Given the description of an element on the screen output the (x, y) to click on. 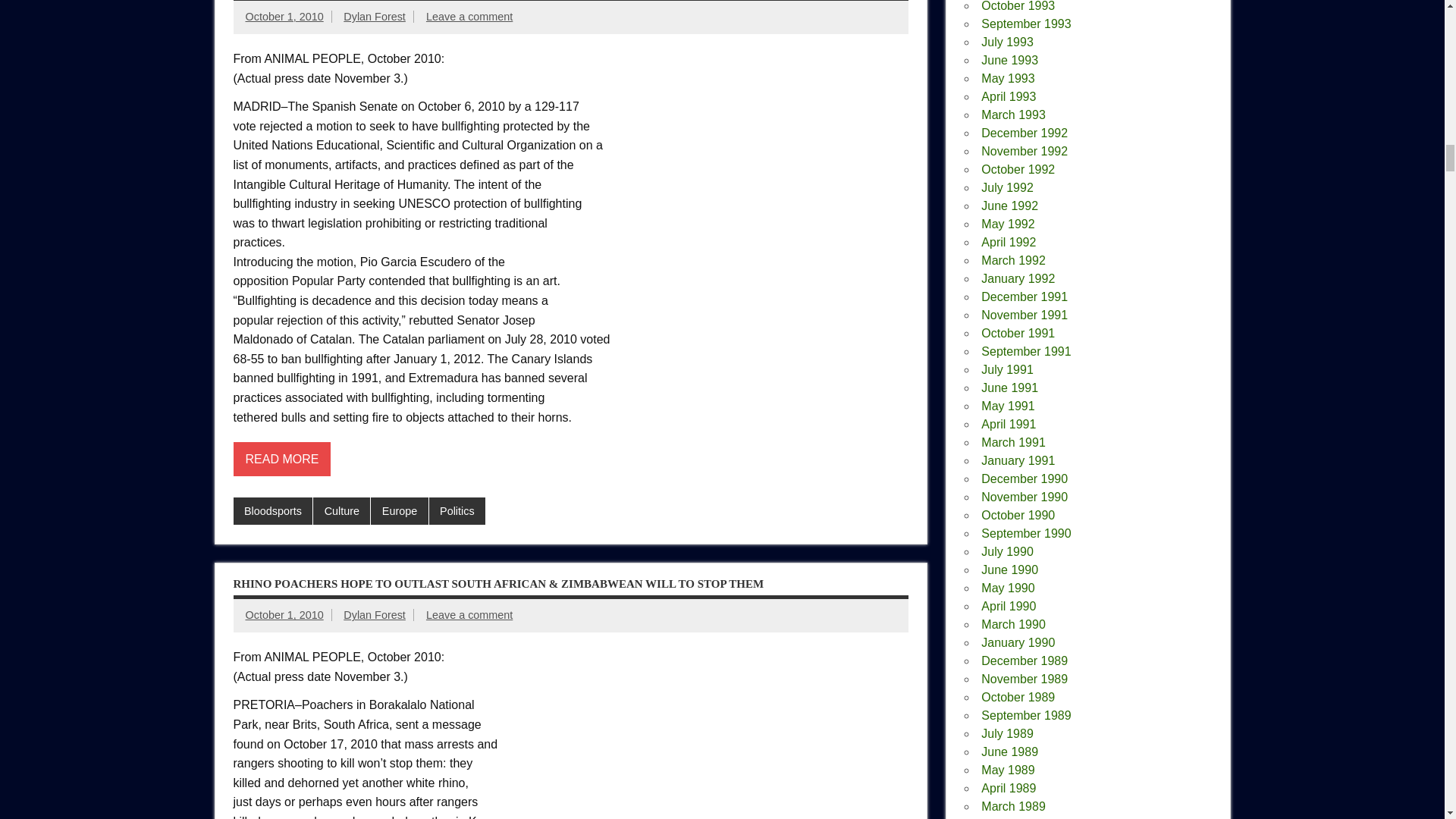
View all posts by Dylan Forest (374, 16)
11:10 pm (284, 16)
